Given the description of an element on the screen output the (x, y) to click on. 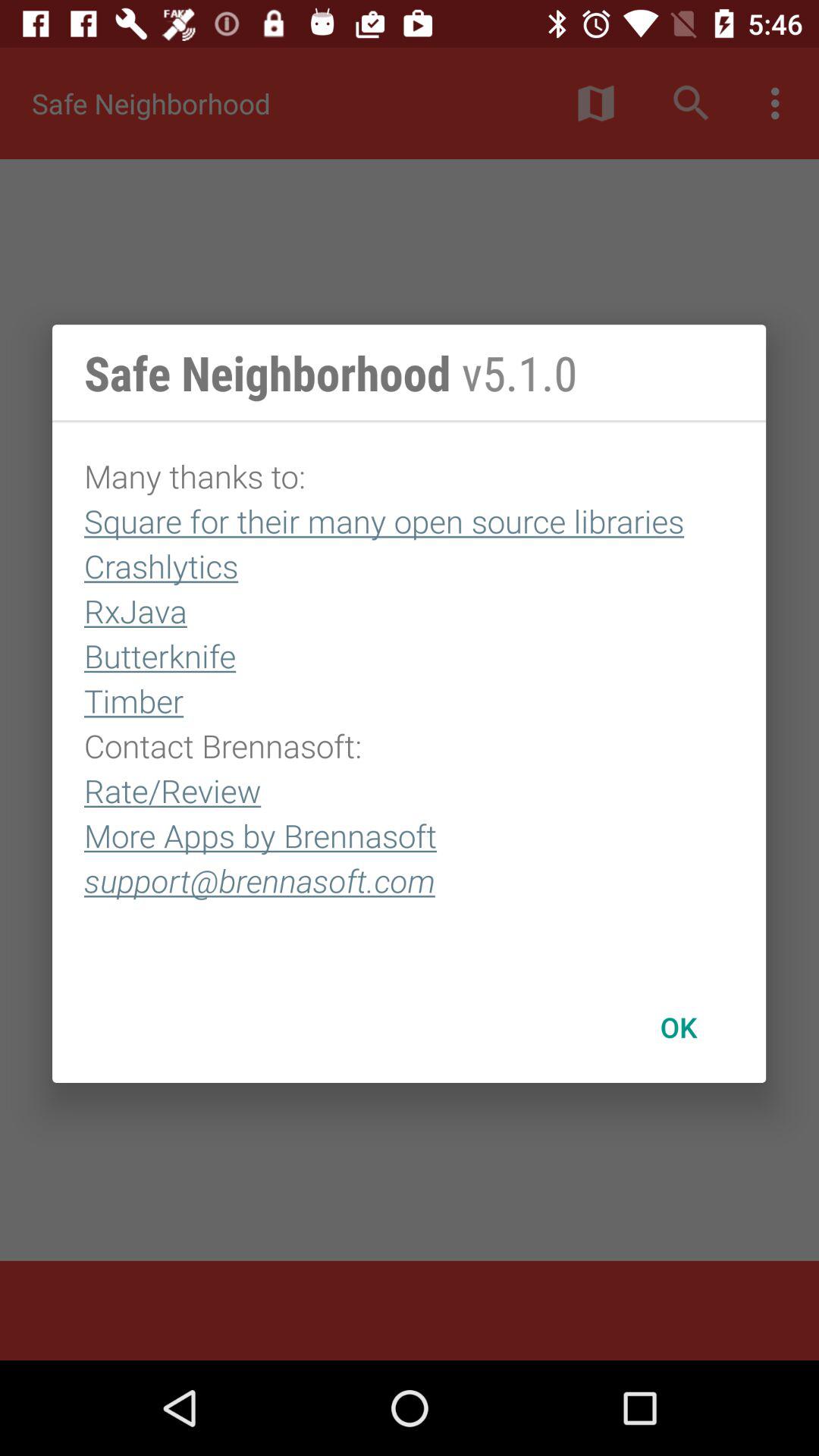
scroll until many thanks to item (409, 696)
